Given the description of an element on the screen output the (x, y) to click on. 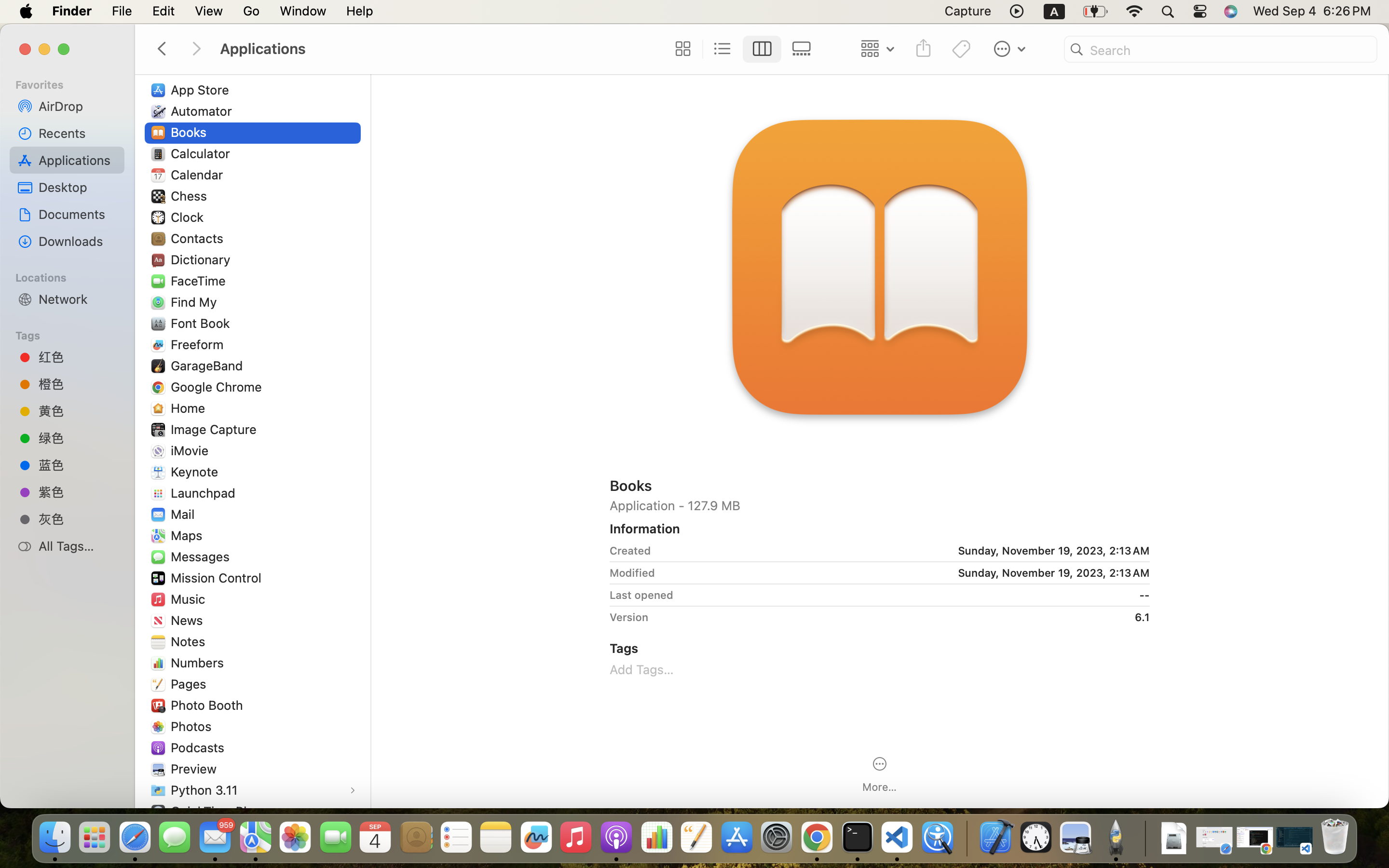
Find My Element type: AXTextField (195, 301)
Keynote Element type: AXTextField (196, 471)
6.1 Element type: AXStaticText (901, 616)
Recents Element type: AXStaticText (77, 132)
Home Element type: AXTextField (189, 407)
